Given the description of an element on the screen output the (x, y) to click on. 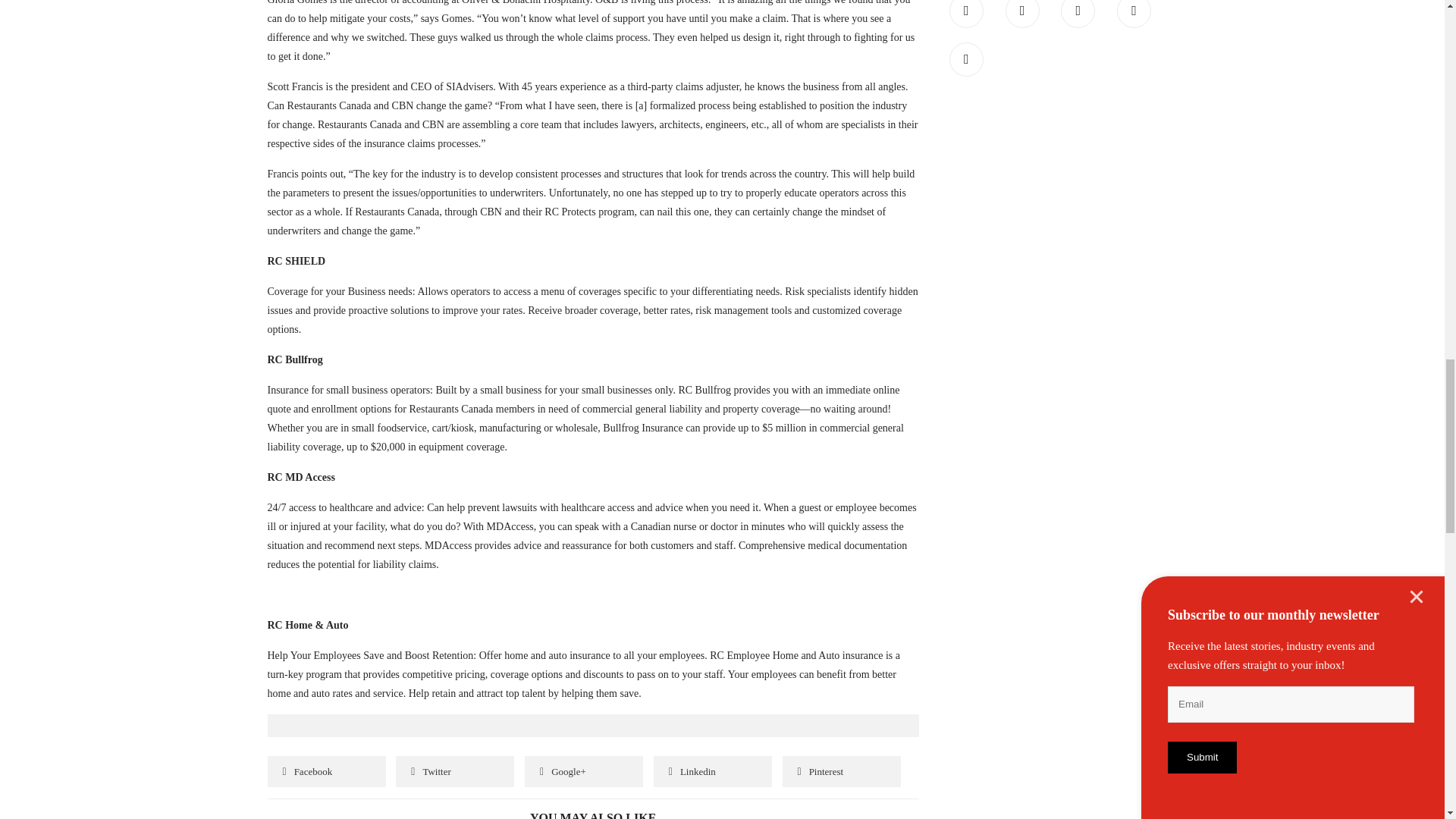
instagram (966, 59)
linkedin (1077, 13)
Pinterest (842, 771)
Twitter (454, 771)
youtube (1133, 13)
Click to share (583, 771)
Twitter (1022, 13)
Facebook (325, 771)
Facebook (966, 13)
Linkedin (712, 771)
